Given the description of an element on the screen output the (x, y) to click on. 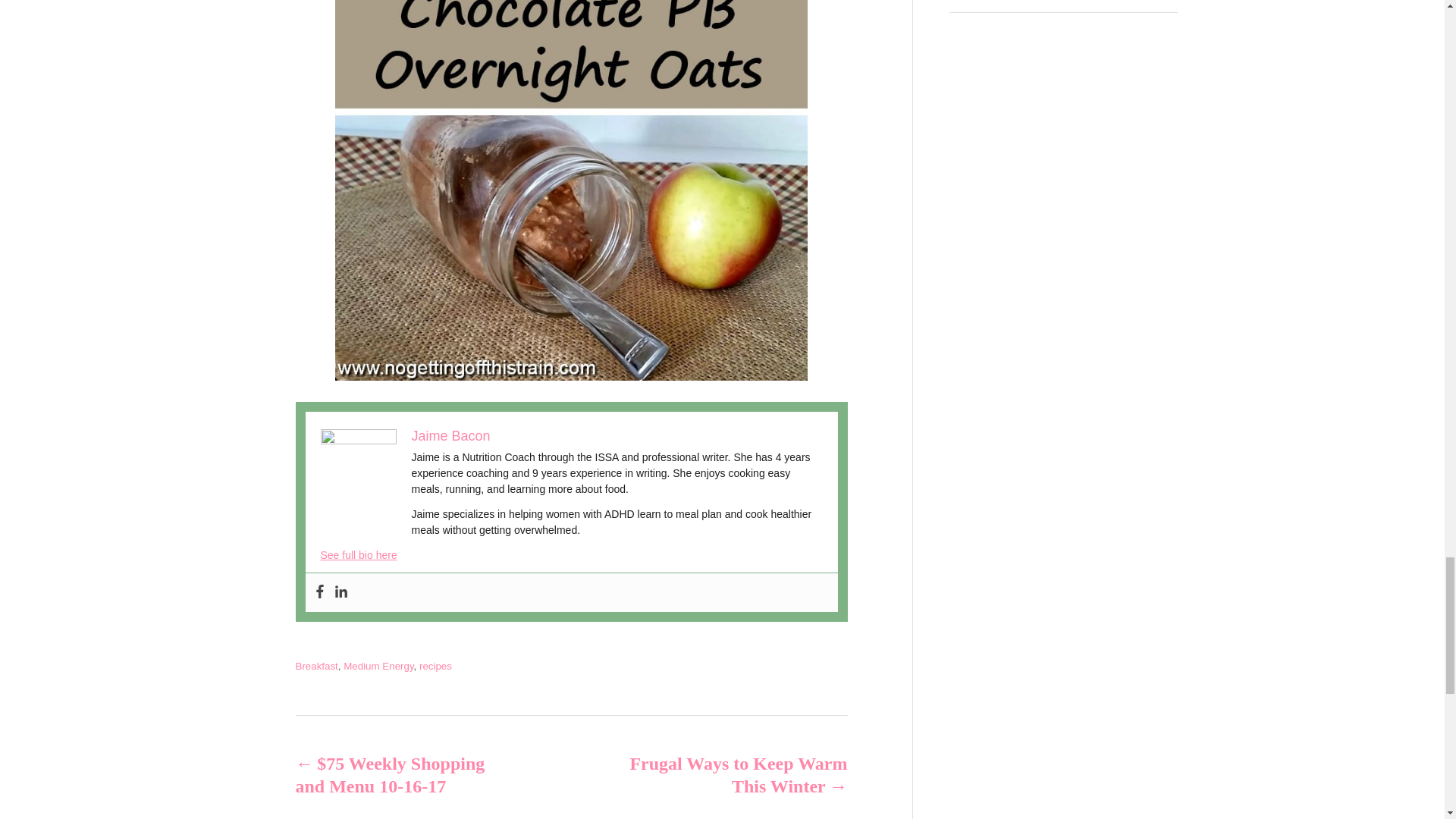
Medium Energy (378, 665)
Breakfast (316, 665)
recipes (435, 665)
See full bio here (358, 554)
Frugal Ways to Keep Warm This Winter (736, 774)
Jaime Bacon (449, 435)
